Given the description of an element on the screen output the (x, y) to click on. 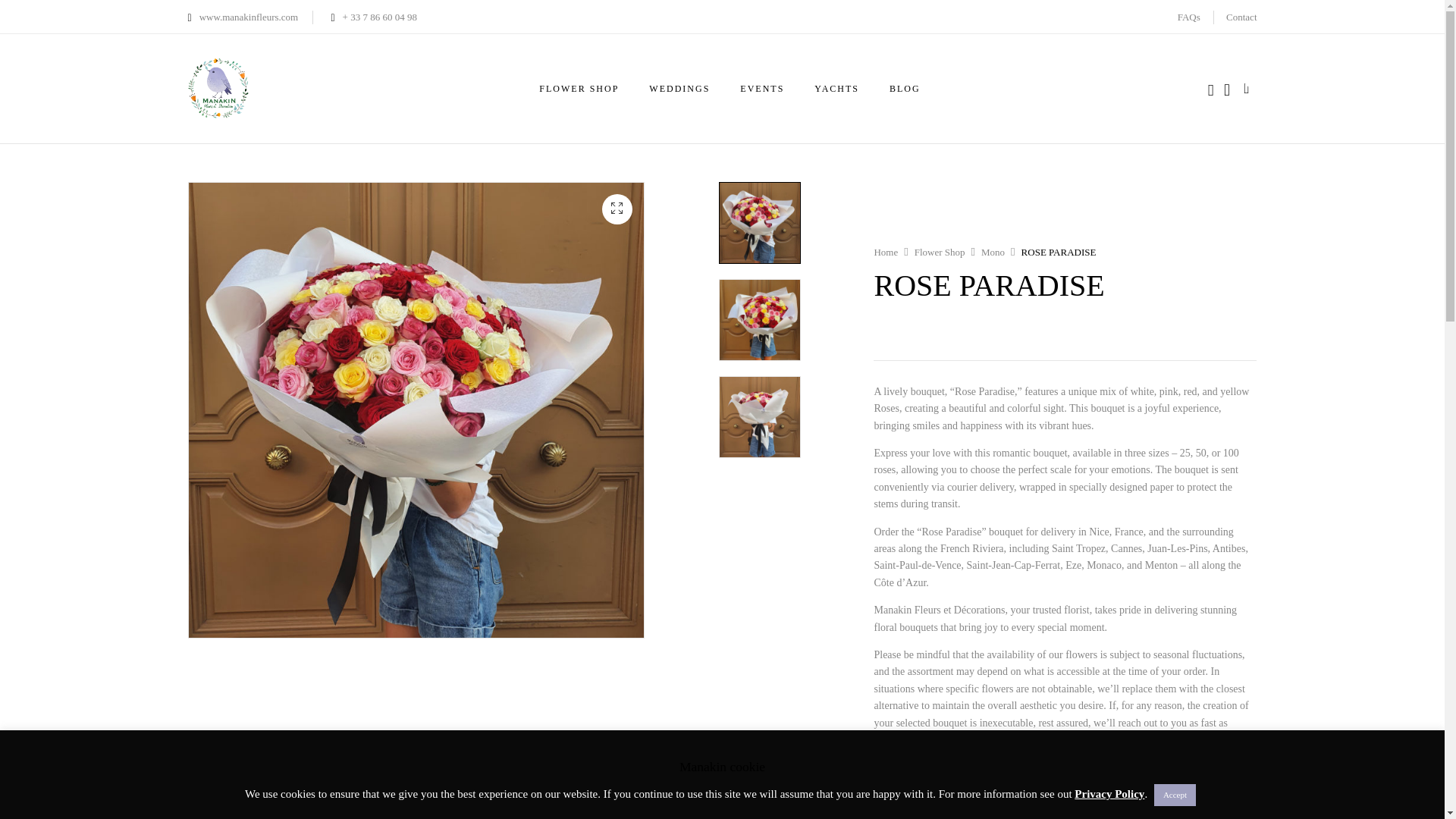
Flower Shop (939, 251)
YACHTS (836, 88)
Contact (1240, 16)
WEDDINGS (679, 88)
0 (1248, 88)
FAQs (1188, 16)
Mono nr.012b (759, 416)
Mono nr.012 (759, 222)
BLOG (904, 88)
Mono (992, 251)
www.manakinfleurs.com (242, 16)
FLOWER SHOP (578, 88)
Mono nr.012a (759, 320)
EVENTS (761, 88)
